Given the description of an element on the screen output the (x, y) to click on. 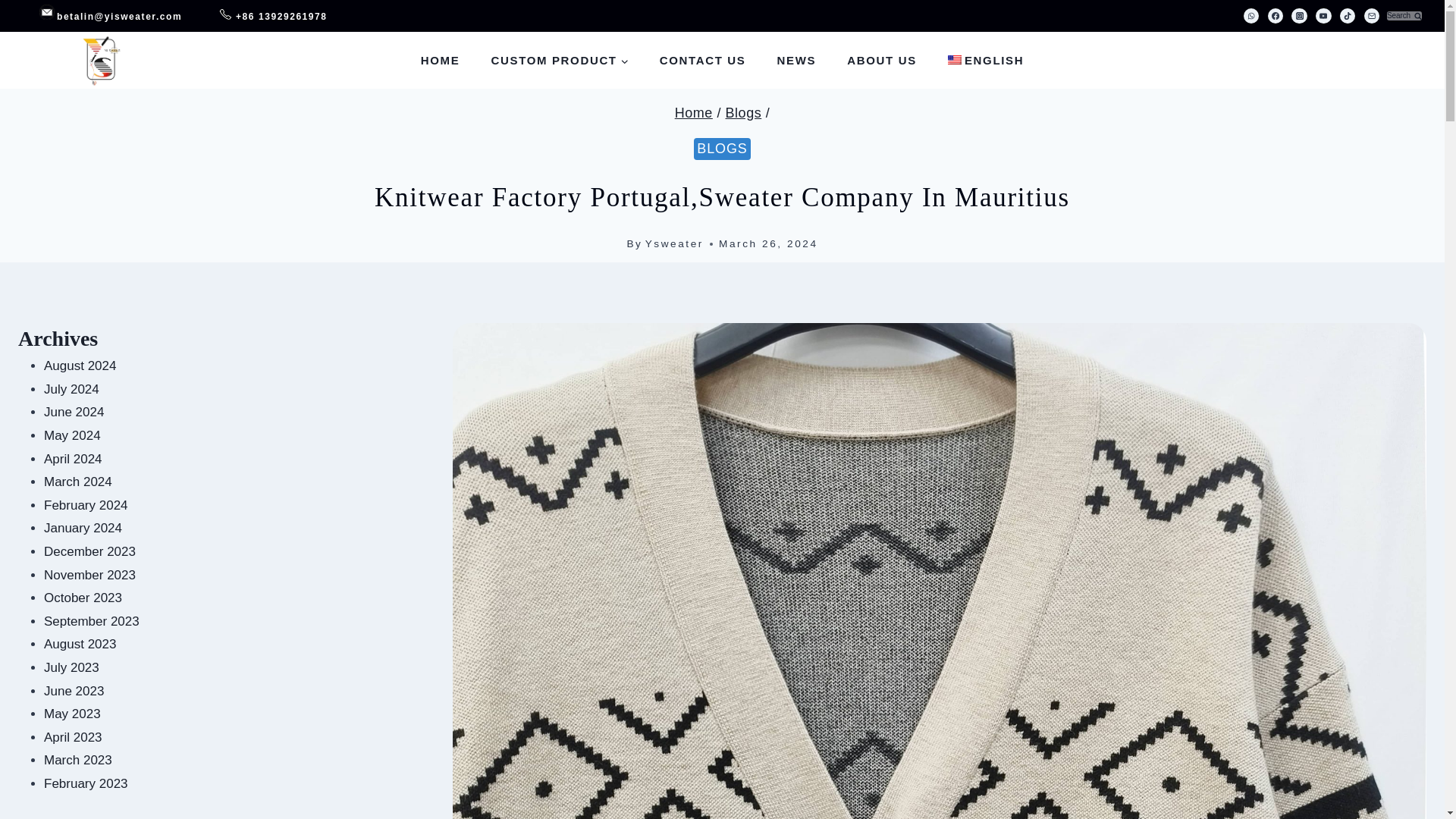
Search (1404, 16)
HOME (440, 59)
NEWS (796, 59)
CONTACT US (702, 59)
ENGLISH (985, 59)
CUSTOM PRODUCT (559, 59)
ABOUT US (882, 59)
